Given the description of an element on the screen output the (x, y) to click on. 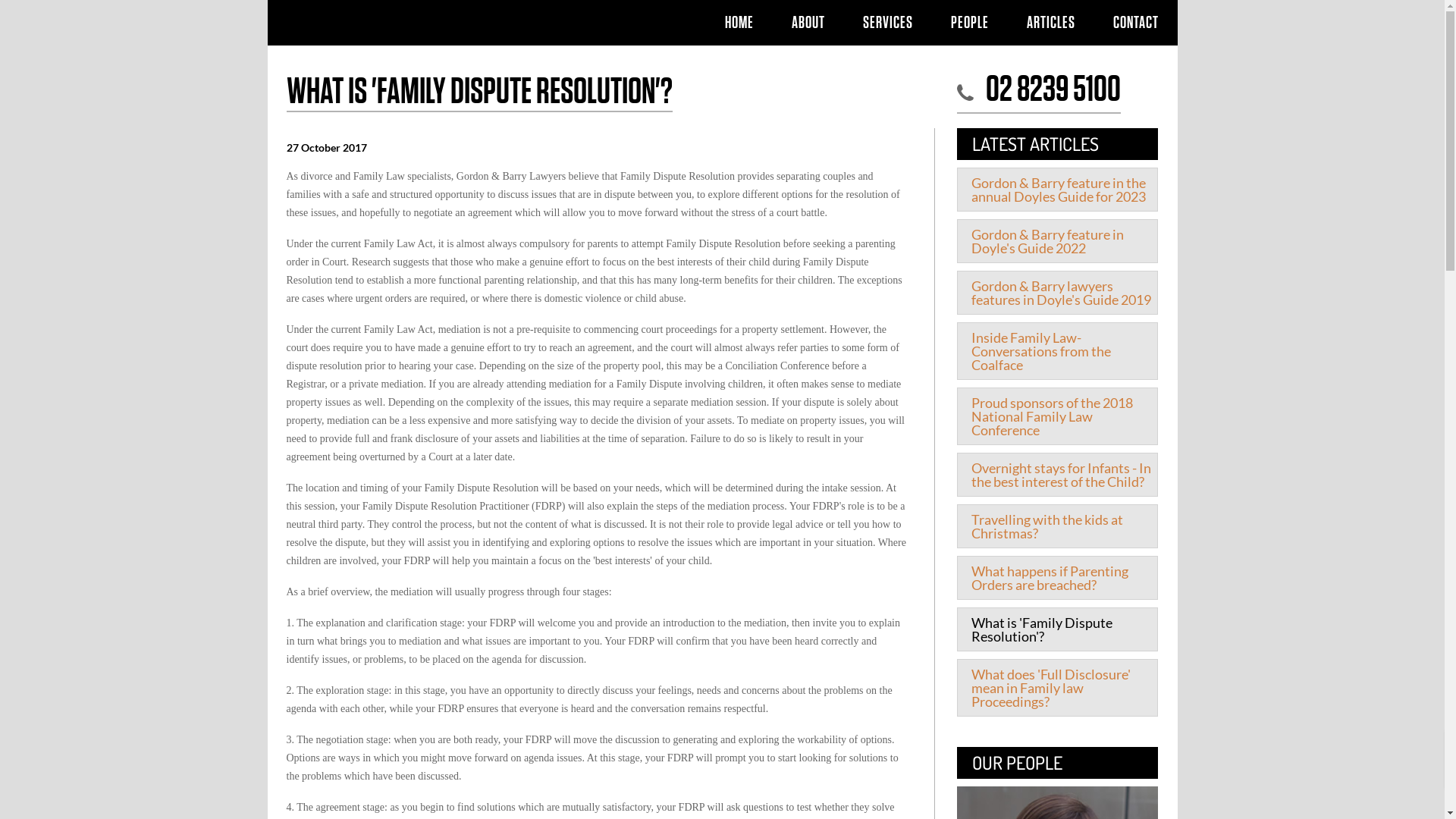
Travelling with the kids at Christmas? Element type: text (1057, 526)
PEOPLE Element type: text (969, 22)
Gordon & Barry feature in the annual Doyles Guide for 2023 Element type: text (1057, 189)
SERVICES Element type: text (887, 22)
What is 'Family Dispute Resolution'? Element type: text (1057, 629)
Proud sponsors of the 2018 National Family Law Conference Element type: text (1057, 416)
Inside Family Law- Conversations from the Coalface Element type: text (1057, 350)
What does 'Full Disclosure' mean in Family law Proceedings? Element type: text (1057, 687)
ABOUT Element type: text (807, 22)
02 8239 5100 Element type: text (1050, 90)
Gordon & Barry feature in Doyle's Guide 2022 Element type: text (1057, 241)
What happens if Parenting Orders are breached? Element type: text (1057, 577)
HOME Element type: text (738, 22)
CONTACT Element type: text (1134, 22)
Gordon & Barry lawyers features in Doyle's Guide 2019 Element type: text (1057, 292)
Gordon & Barry Element type: hover (375, 22)
ARTICLES Element type: text (1050, 22)
